Given the description of an element on the screen output the (x, y) to click on. 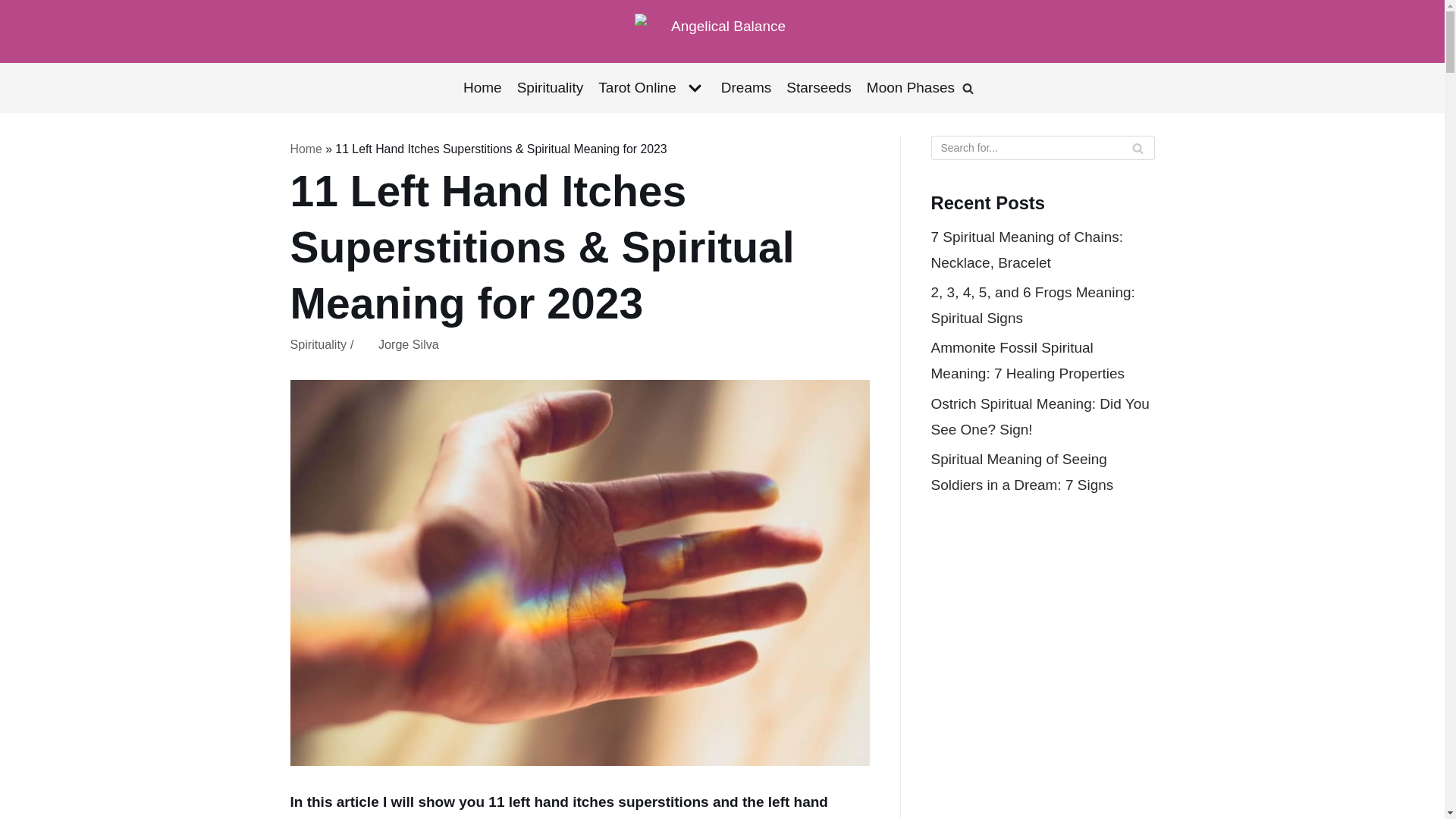
Posts by Jorge Silva (408, 344)
Skip to content (15, 7)
Tarot Online (651, 87)
Starseeds (818, 87)
Home (482, 87)
Dreams (745, 87)
Angelical Balance (721, 31)
Spirituality (549, 87)
Moon Phases (910, 87)
